Given the description of an element on the screen output the (x, y) to click on. 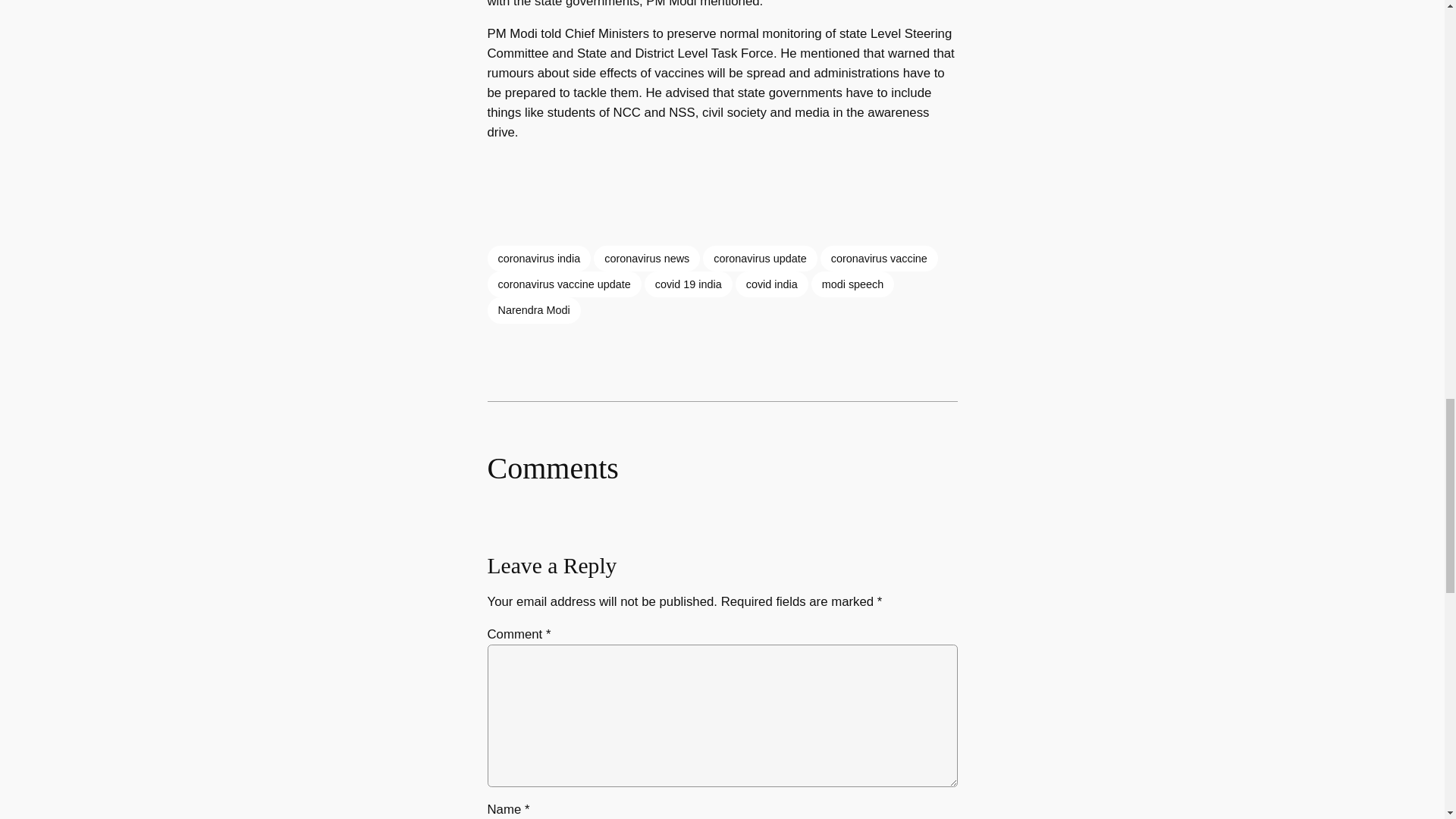
coronavirus india (538, 258)
coronavirus vaccine update (563, 284)
coronavirus vaccine (879, 258)
covid 19 india (688, 284)
Narendra Modi (532, 309)
covid india (771, 284)
modi speech (852, 284)
coronavirus update (759, 258)
coronavirus news (647, 258)
